Given the description of an element on the screen output the (x, y) to click on. 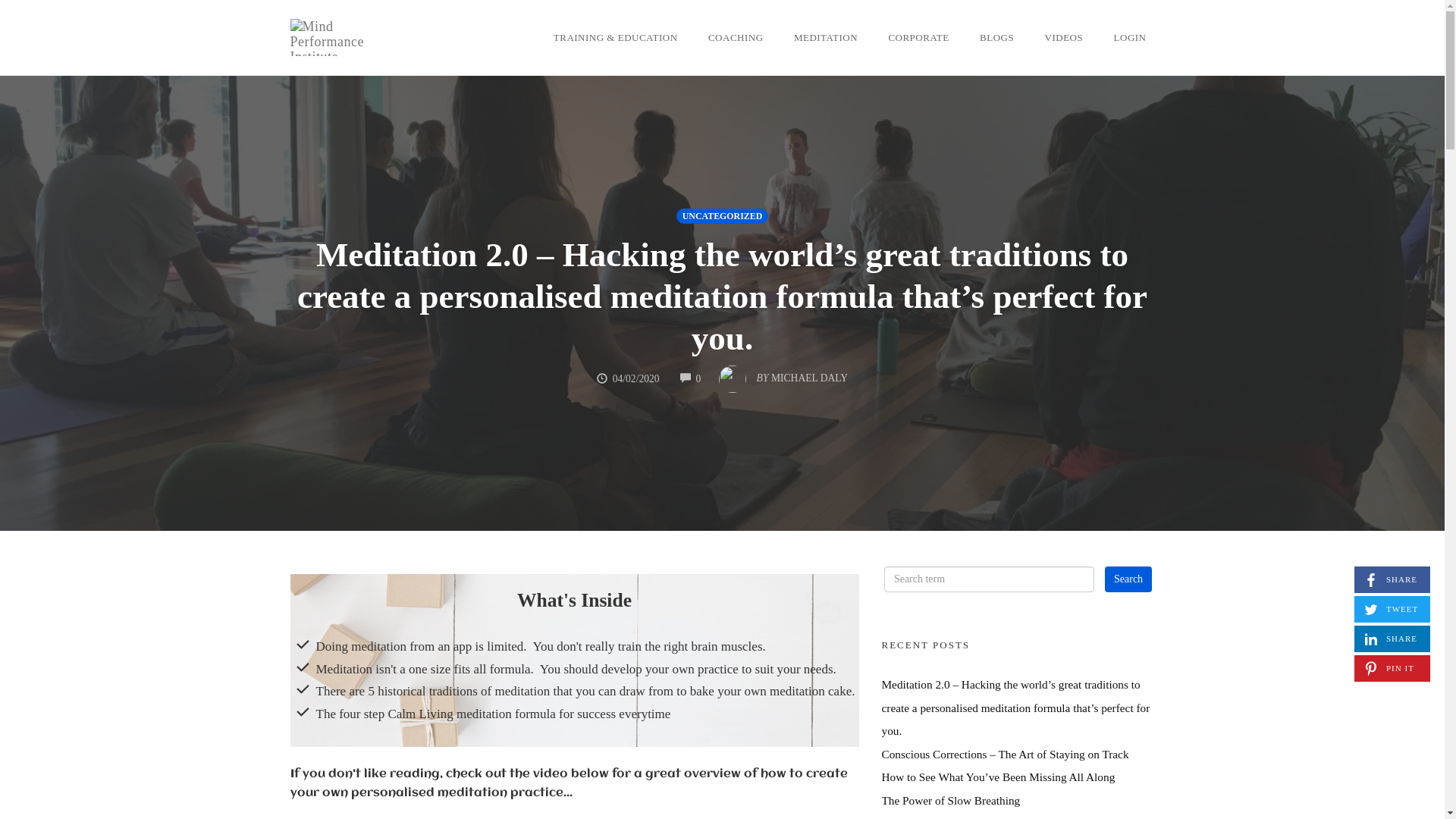
BLOGS Element type: text (996, 37)
Search Element type: text (1127, 579)
COACHING Element type: text (735, 37)
UNCATEGORIZED Element type: text (722, 215)
BY MICHAEL DALY Element type: text (782, 373)
CORPORATE Element type: text (918, 37)
The Power of Slow Breathing Element type: text (950, 799)
0
COMMENTS Element type: text (690, 378)
TRAINING & EDUCATION Element type: text (615, 37)
LOGIN Element type: text (1129, 37)
MEDITATION Element type: text (825, 37)
VIDEOS Element type: text (1064, 37)
 SHARE
ON LINKEDIN Element type: text (1392, 638)
 SHARE
ON FACEBOOK Element type: text (1392, 579)
 PIN IT
(SHARE ON PINTEREST) Element type: text (1392, 668)
 TWEET
(SHARE ON TWITTER) Element type: text (1392, 609)
Mind Performance Institute Element type: hover (338, 37)
